Given the description of an element on the screen output the (x, y) to click on. 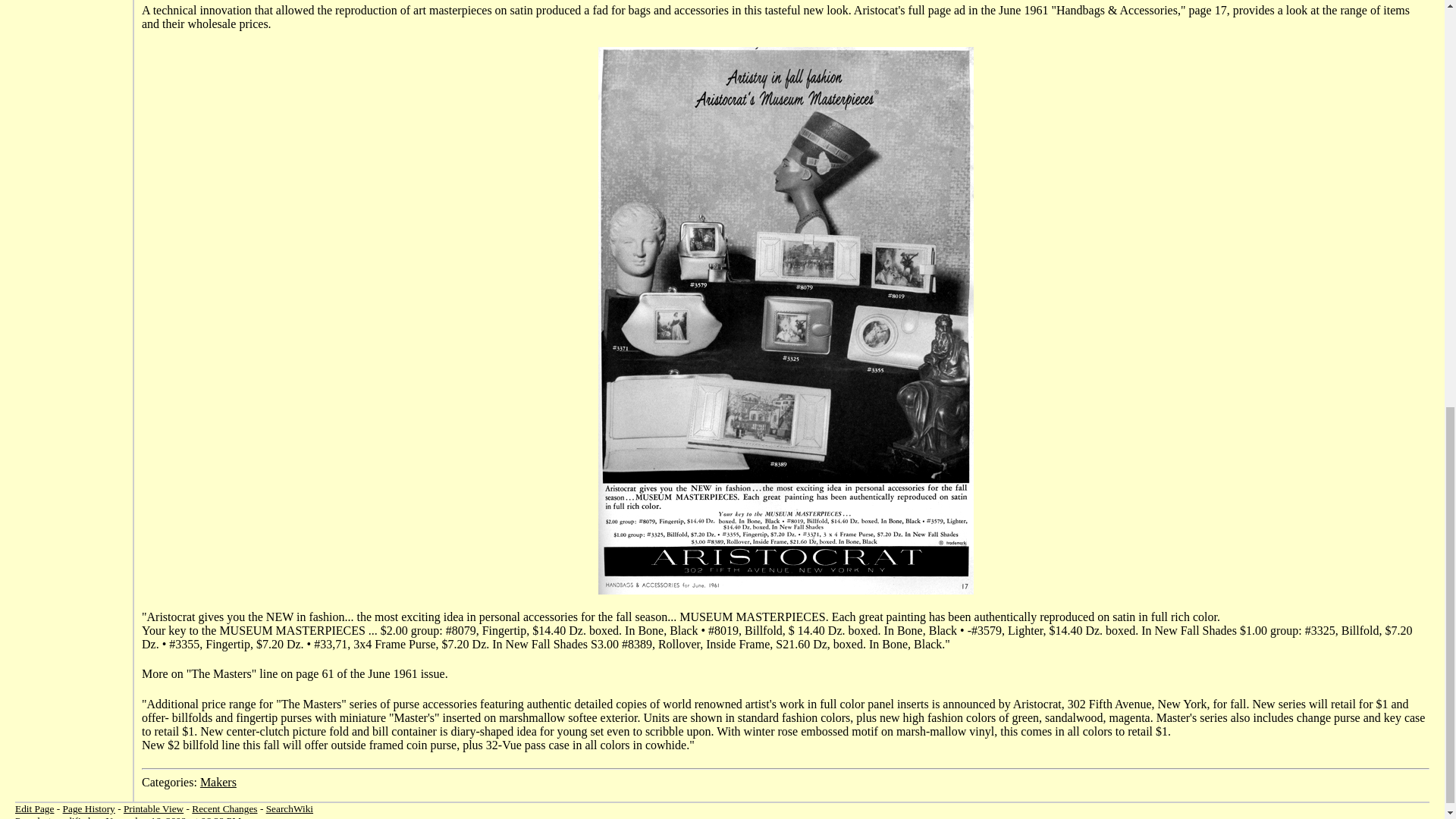
Printable View (153, 808)
Edit Page (33, 808)
SearchWiki (289, 808)
Recent Changes (224, 808)
Makers (217, 781)
Page History (88, 808)
